Given the description of an element on the screen output the (x, y) to click on. 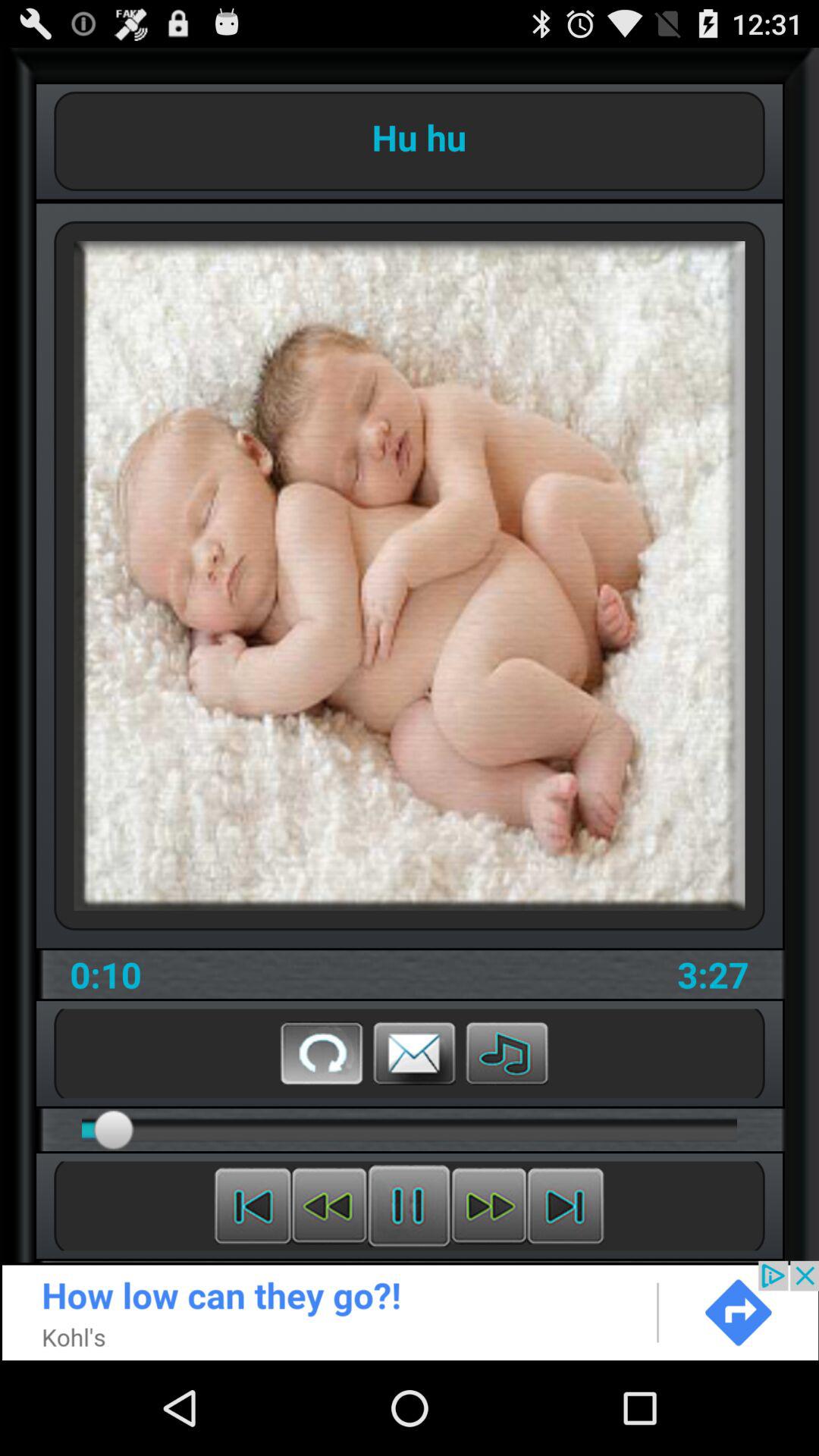
go forward to next song (565, 1205)
